Given the description of an element on the screen output the (x, y) to click on. 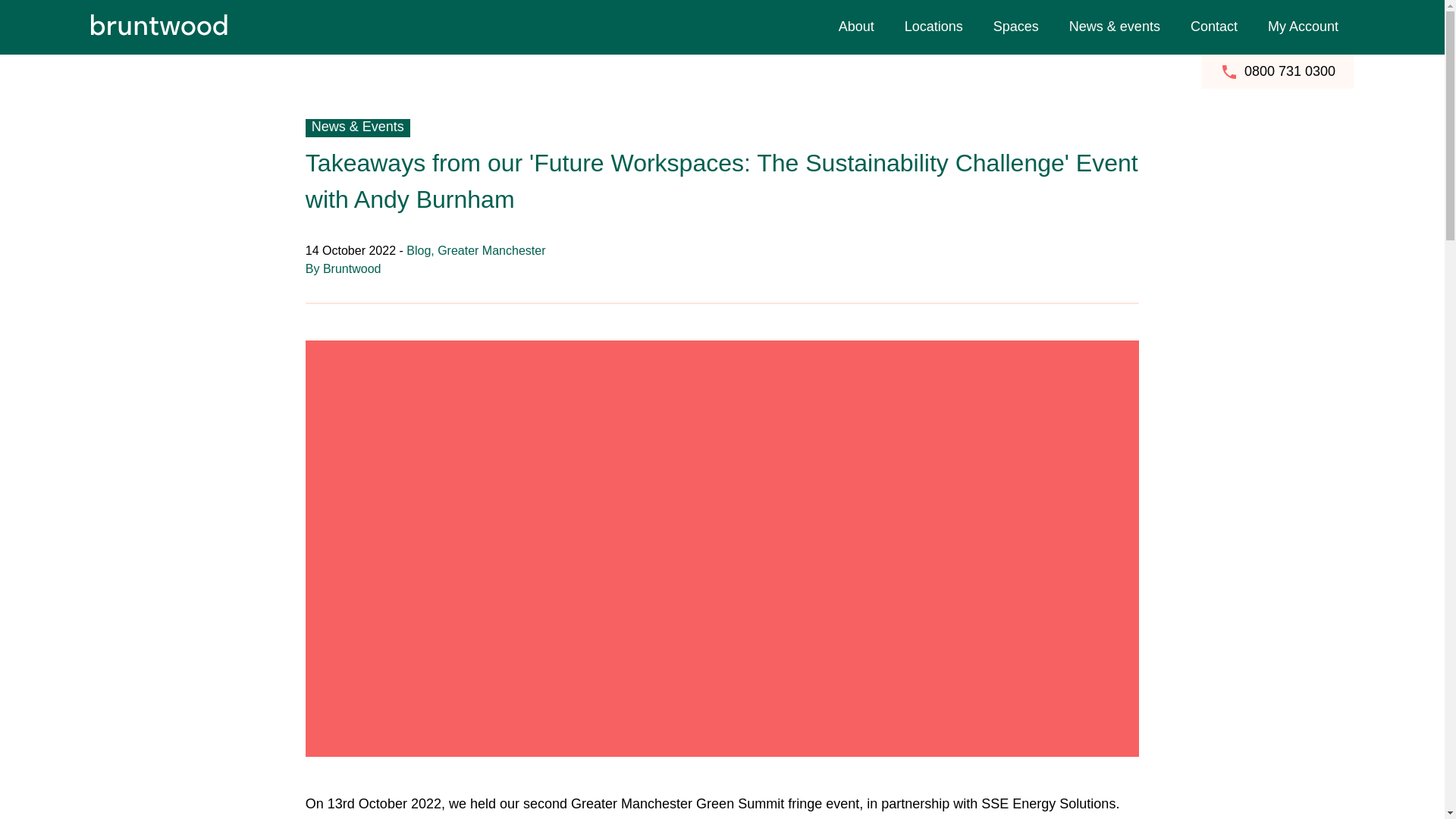
About (856, 27)
Locations (933, 27)
Bruntwood Group (1157, 10)
